Given the description of an element on the screen output the (x, y) to click on. 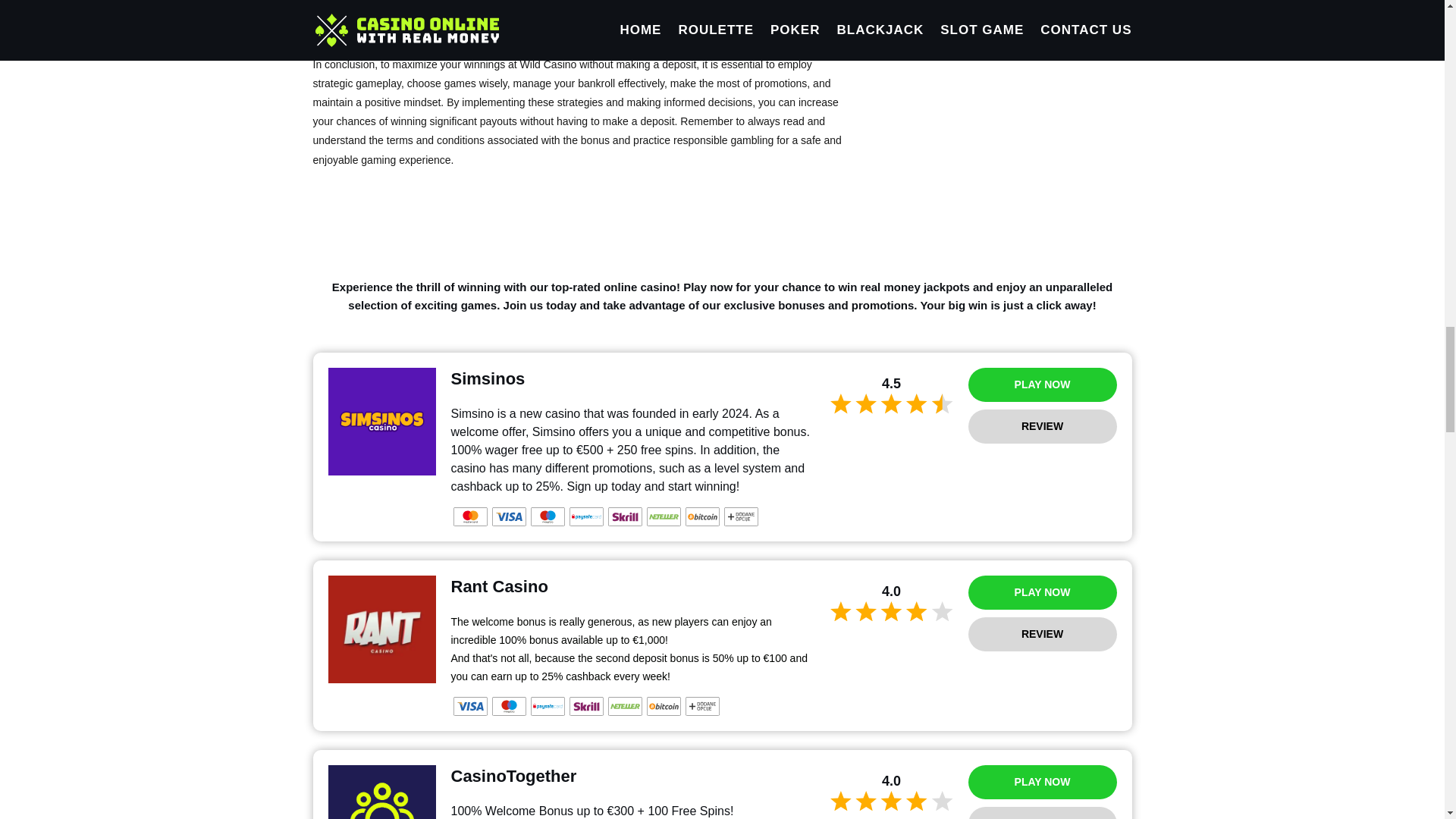
Simsinos (381, 421)
Skrill (625, 516)
Visa (469, 705)
Maestro (547, 516)
REVIEW (1042, 812)
Visa (508, 516)
REVIEW (1042, 426)
Paysafecard (585, 516)
Mastercard (469, 516)
PLAY NOW (1042, 384)
Dodatne (740, 516)
PLAY NOW (1042, 781)
Skrill (585, 705)
Paysafecard (547, 705)
REVIEW (1042, 634)
